Given the description of an element on the screen output the (x, y) to click on. 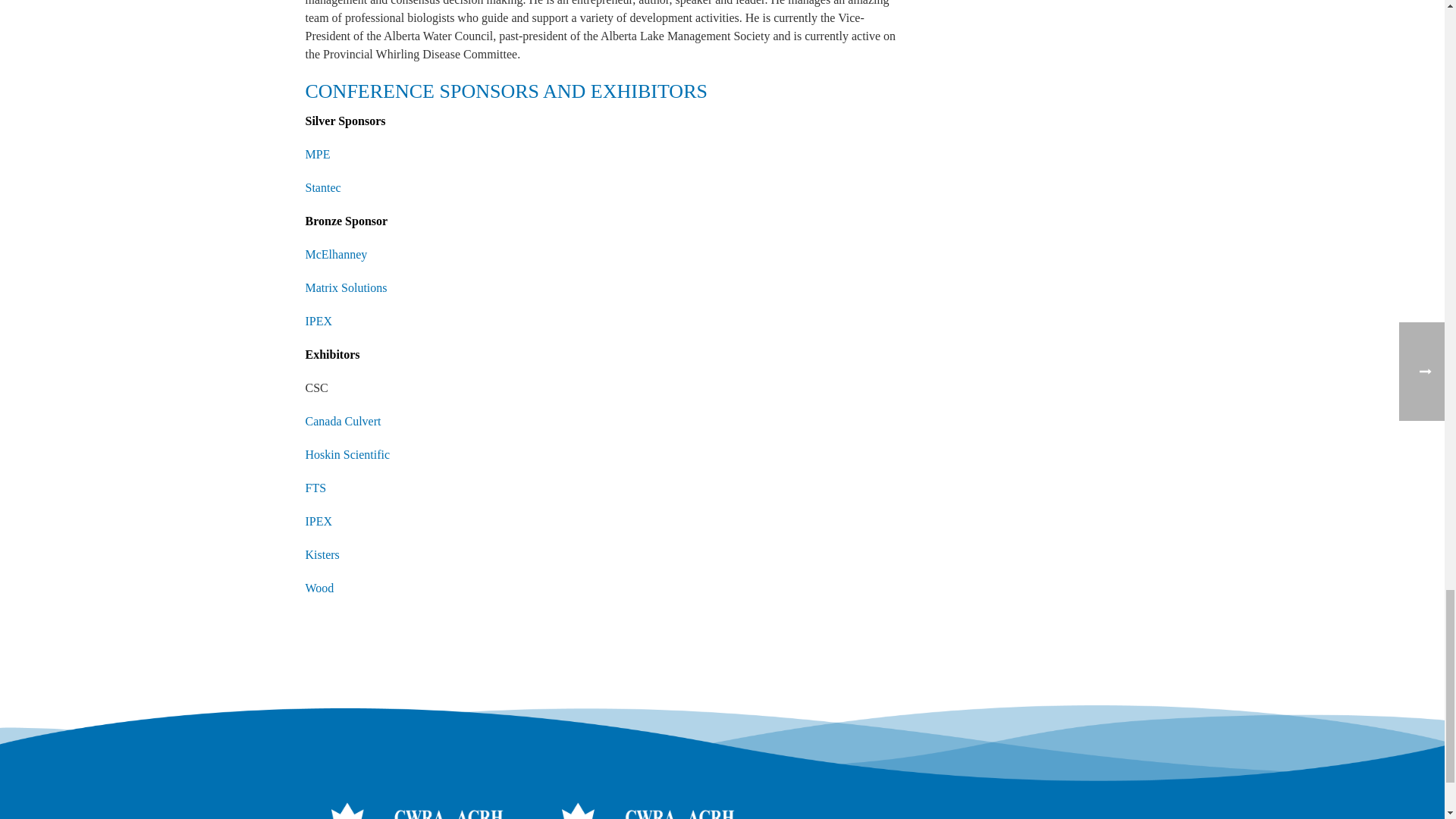
Canadian Water Resources Association (636, 810)
Canadian Water Resources Association (405, 810)
